Given the description of an element on the screen output the (x, y) to click on. 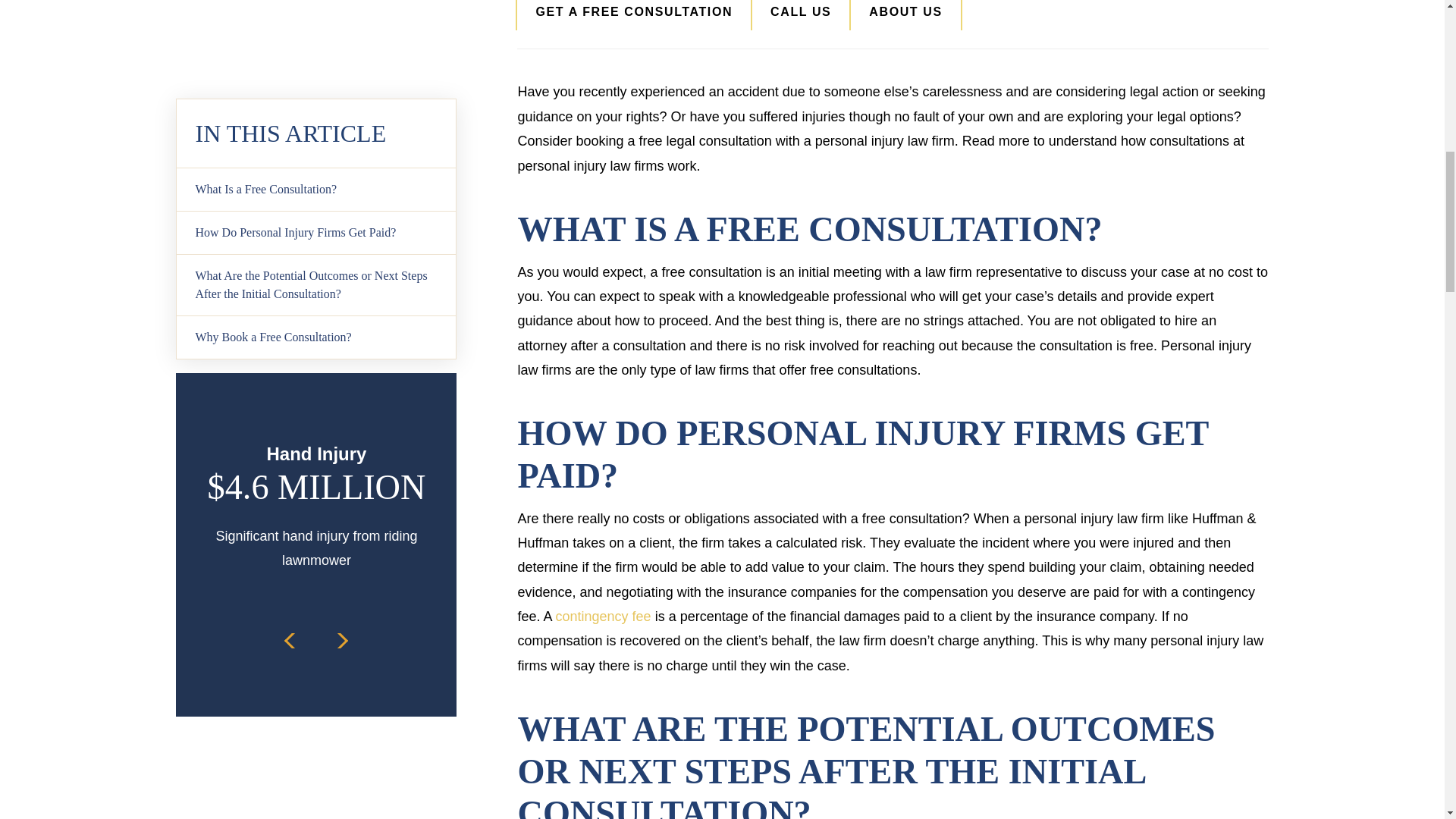
What Is a Free Consultation? (315, 66)
Why Book a Free Consultation? (315, 213)
How Do Personal Injury Firms Get Paid?  (315, 109)
